Given the description of an element on the screen output the (x, y) to click on. 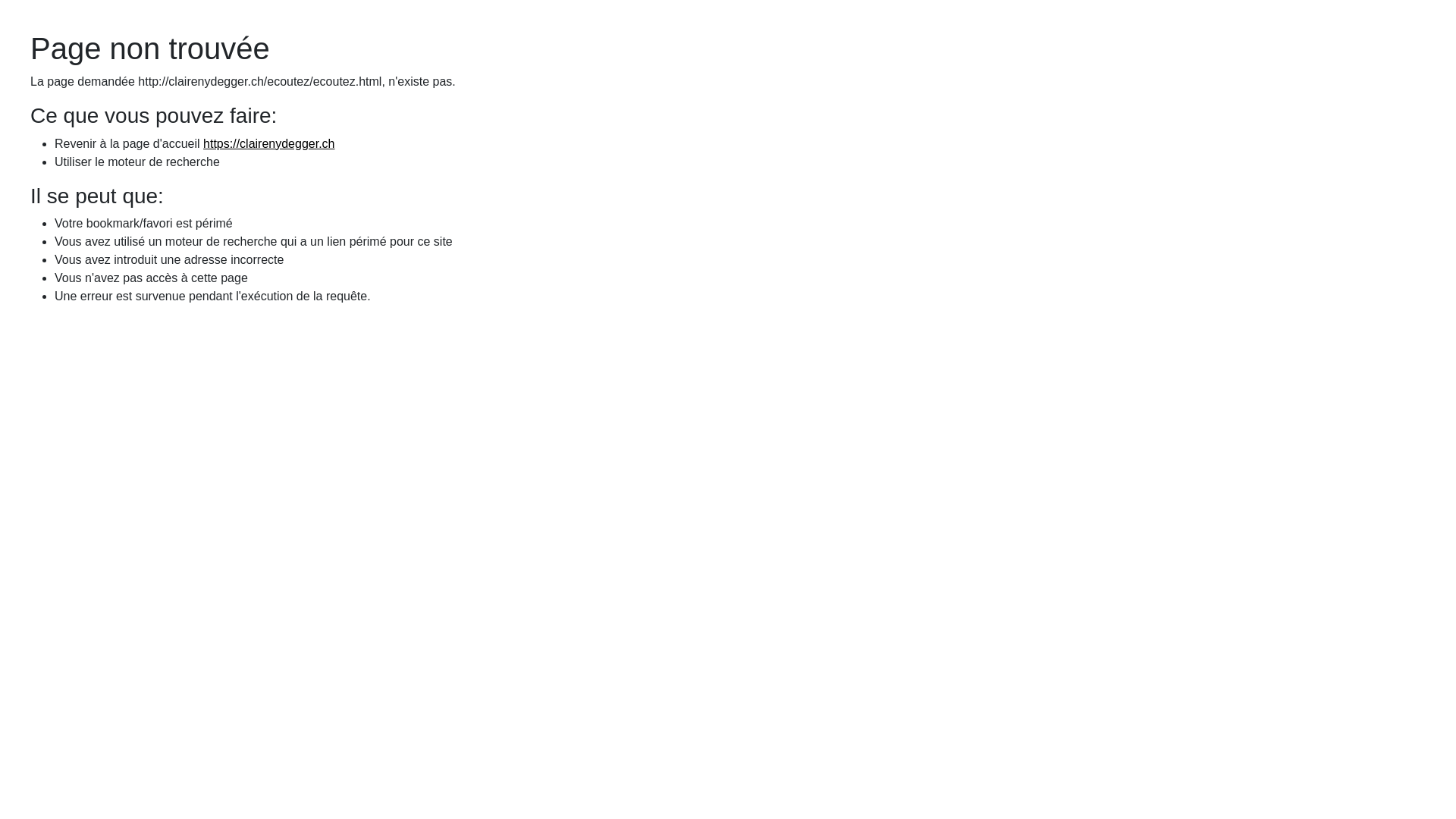
https://clairenydegger.ch Element type: text (268, 143)
